Given the description of an element on the screen output the (x, y) to click on. 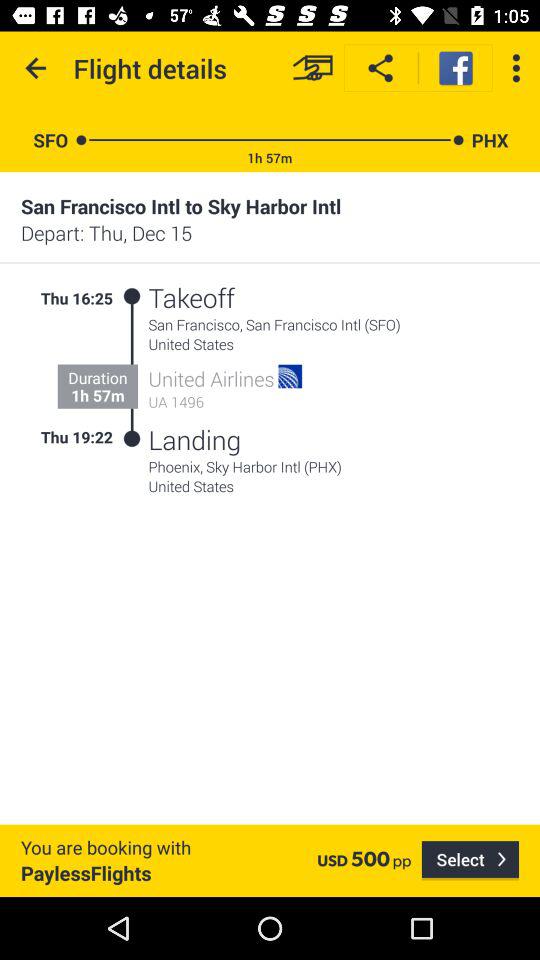
select the icon next to pp item (470, 860)
